Given the description of an element on the screen output the (x, y) to click on. 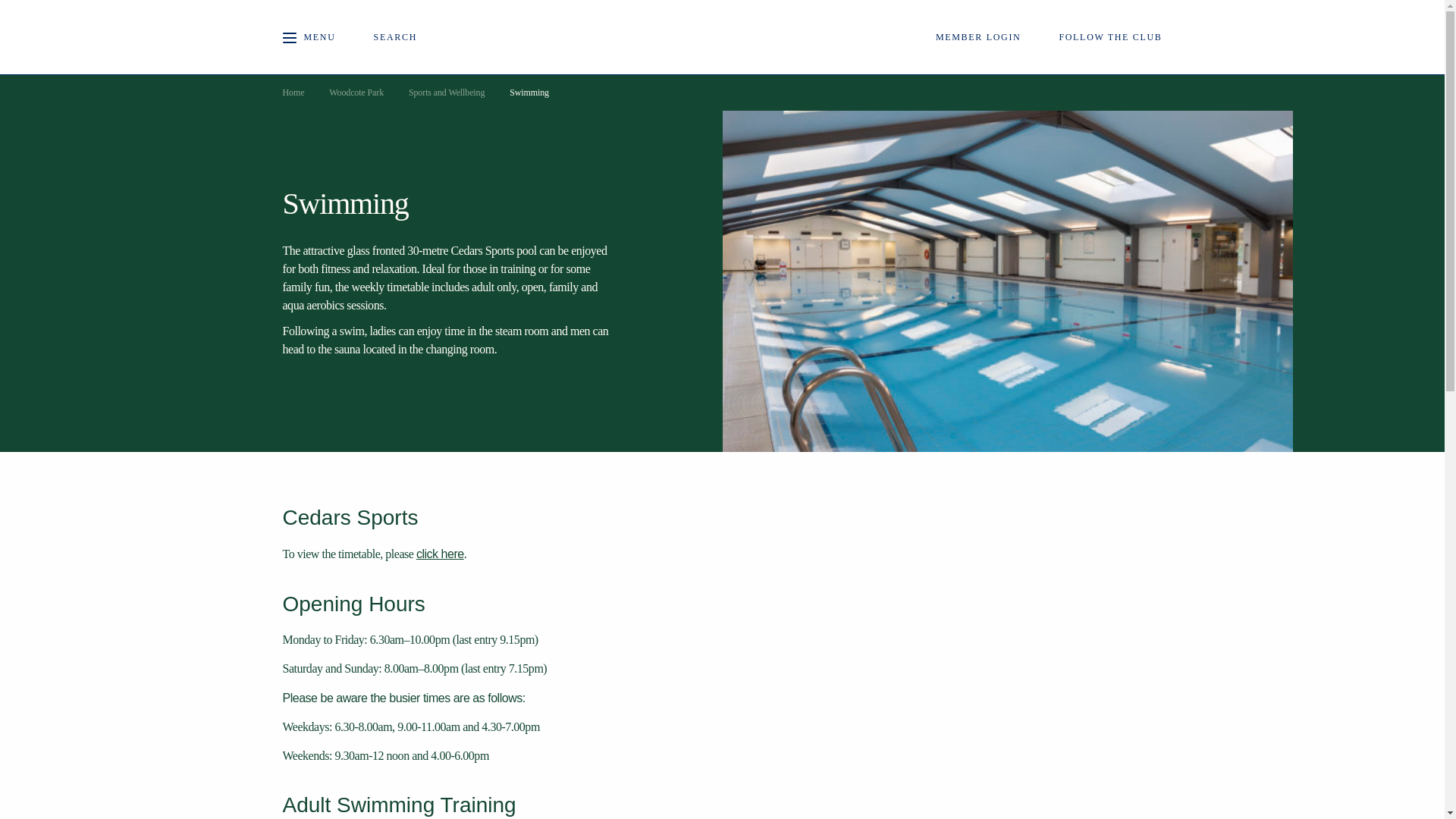
MEMBER LOGIN (979, 37)
SEARCH (406, 37)
MENU (308, 37)
FOLLOW THE CLUB (1109, 37)
